Given the description of an element on the screen output the (x, y) to click on. 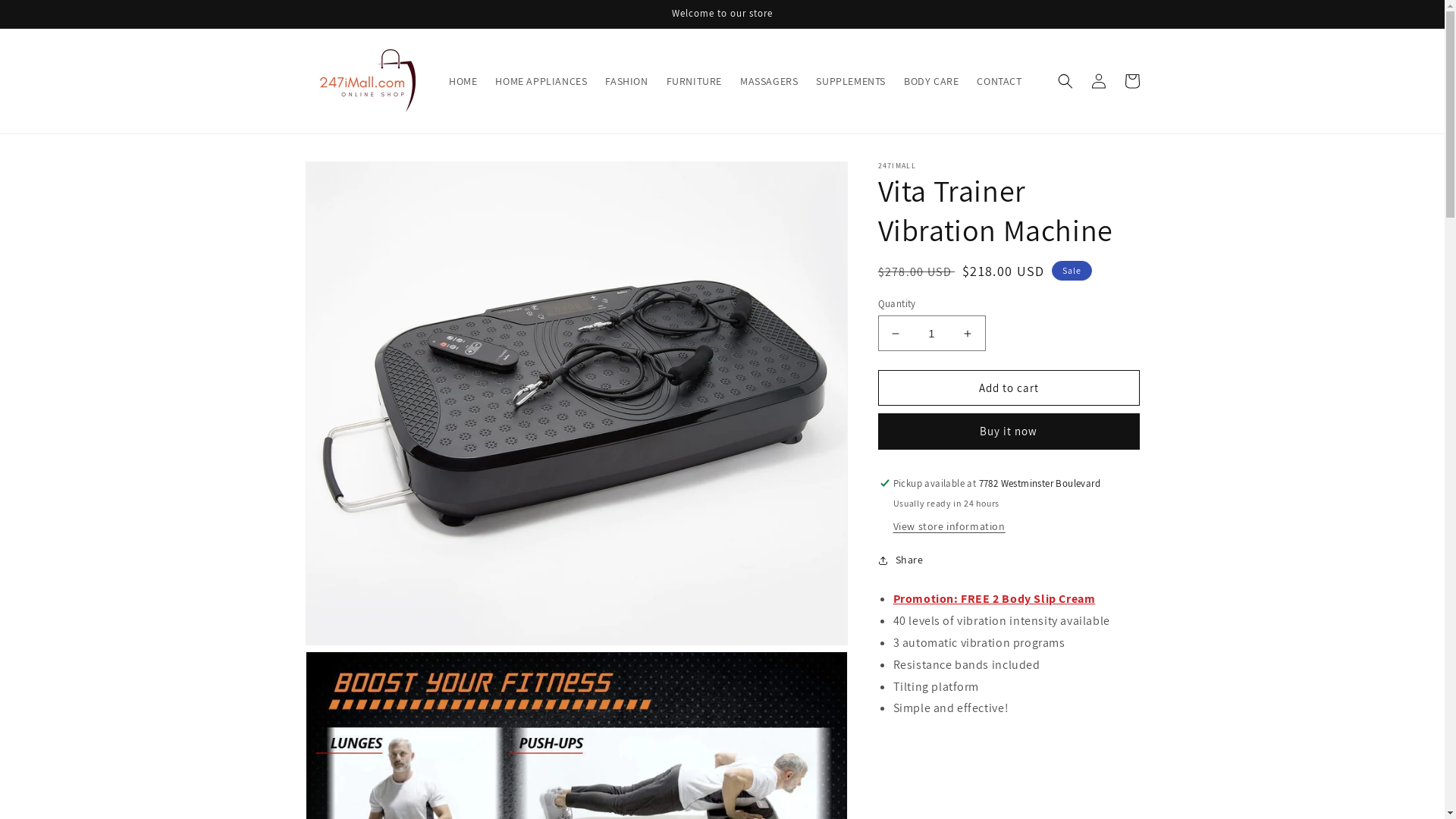
HOME APPLIANCES Element type: text (541, 81)
Log in Element type: text (1097, 80)
FURNITURE Element type: text (694, 81)
FASHION Element type: text (626, 81)
Skip to product information Element type: text (350, 178)
Add to cart Element type: text (1008, 387)
MASSAGERS Element type: text (768, 81)
CONTACT Element type: text (998, 81)
BODY CARE Element type: text (930, 81)
Increase quantity for Vita Trainer Vibration Machine Element type: text (967, 333)
Decrease quantity for Vita Trainer Vibration Machine Element type: text (895, 333)
View store information Element type: text (949, 526)
HOME Element type: text (462, 81)
SUPPLEMENTS Element type: text (850, 81)
Buy it now Element type: text (1008, 431)
Cart Element type: text (1131, 80)
